Given the description of an element on the screen output the (x, y) to click on. 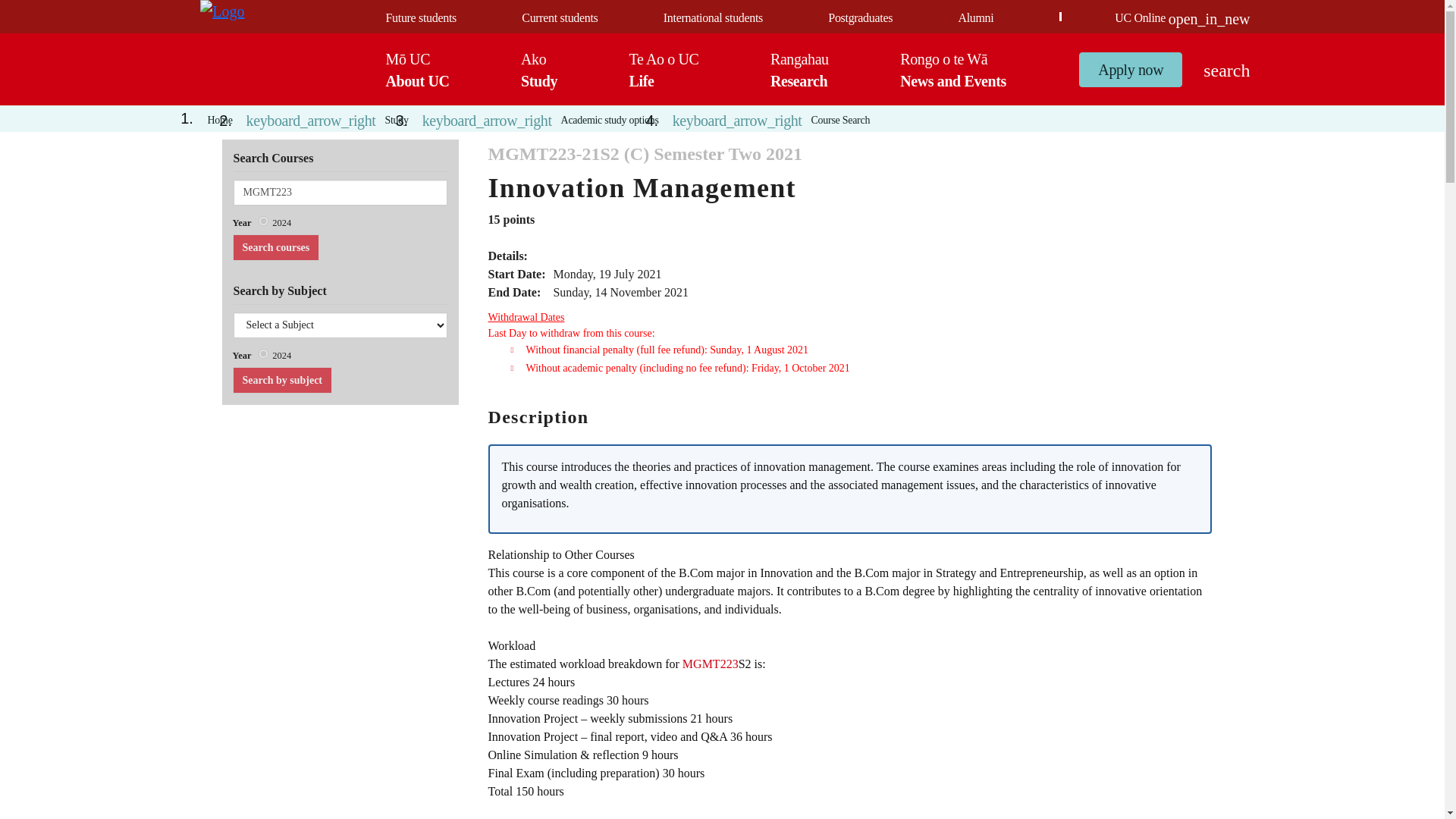
Search by subject (281, 379)
International students (539, 69)
Search courses (712, 17)
Search courses (274, 247)
MGMT223 (274, 247)
MGMT223 (339, 192)
Alumni (339, 192)
Search by subject (975, 17)
2024 (281, 379)
2024 (263, 221)
Postgraduates (263, 353)
Future students (860, 17)
Current students (420, 17)
